Given the description of an element on the screen output the (x, y) to click on. 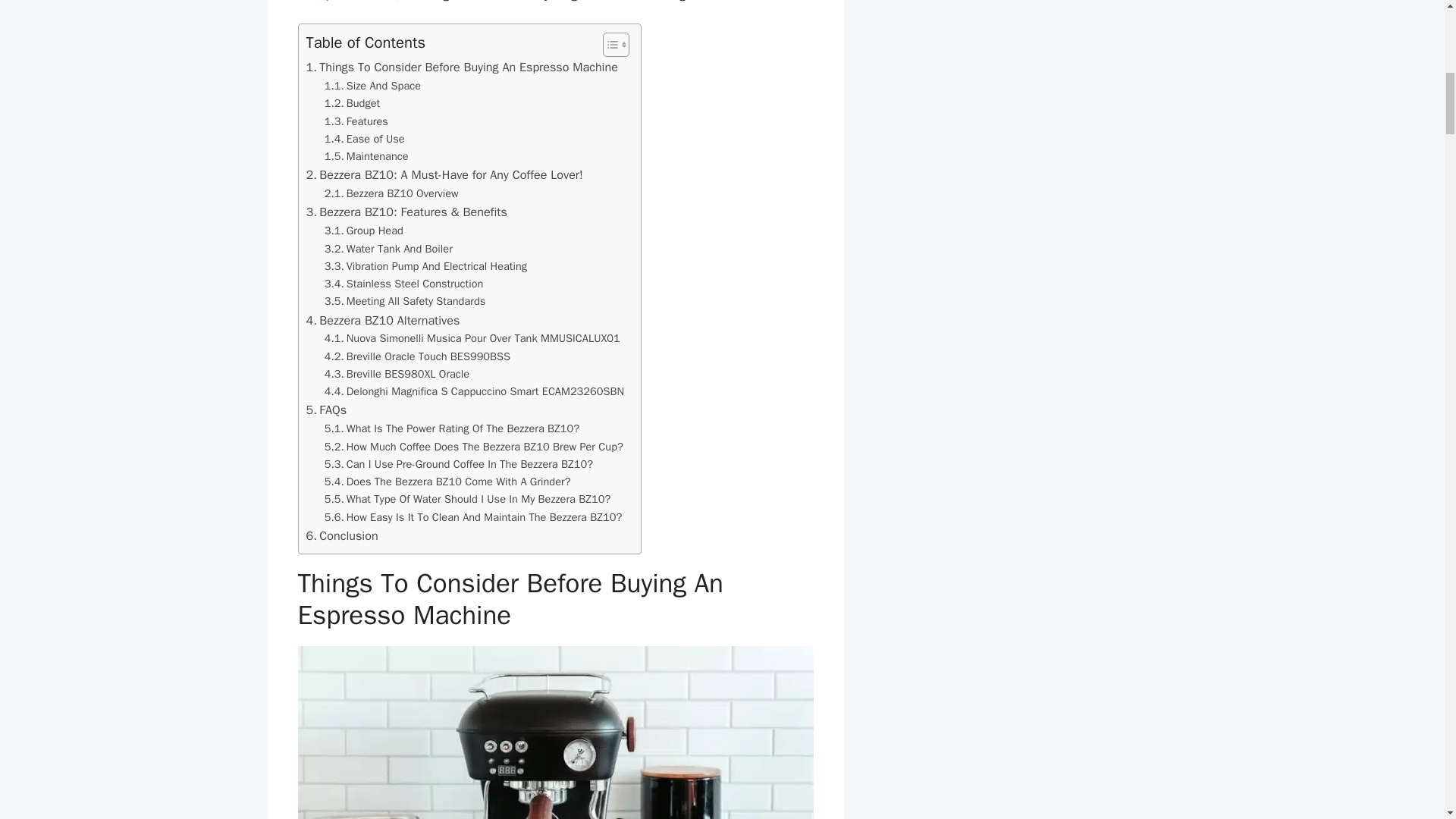
Bezzera BZ10 Overview (391, 193)
Group Head (363, 230)
Water Tank And Boiler (388, 248)
Bezzera BZ10: A Must-Have for Any Coffee Lover! (444, 175)
Things To Consider Before Buying An Espresso Machine (461, 66)
